Given the description of an element on the screen output the (x, y) to click on. 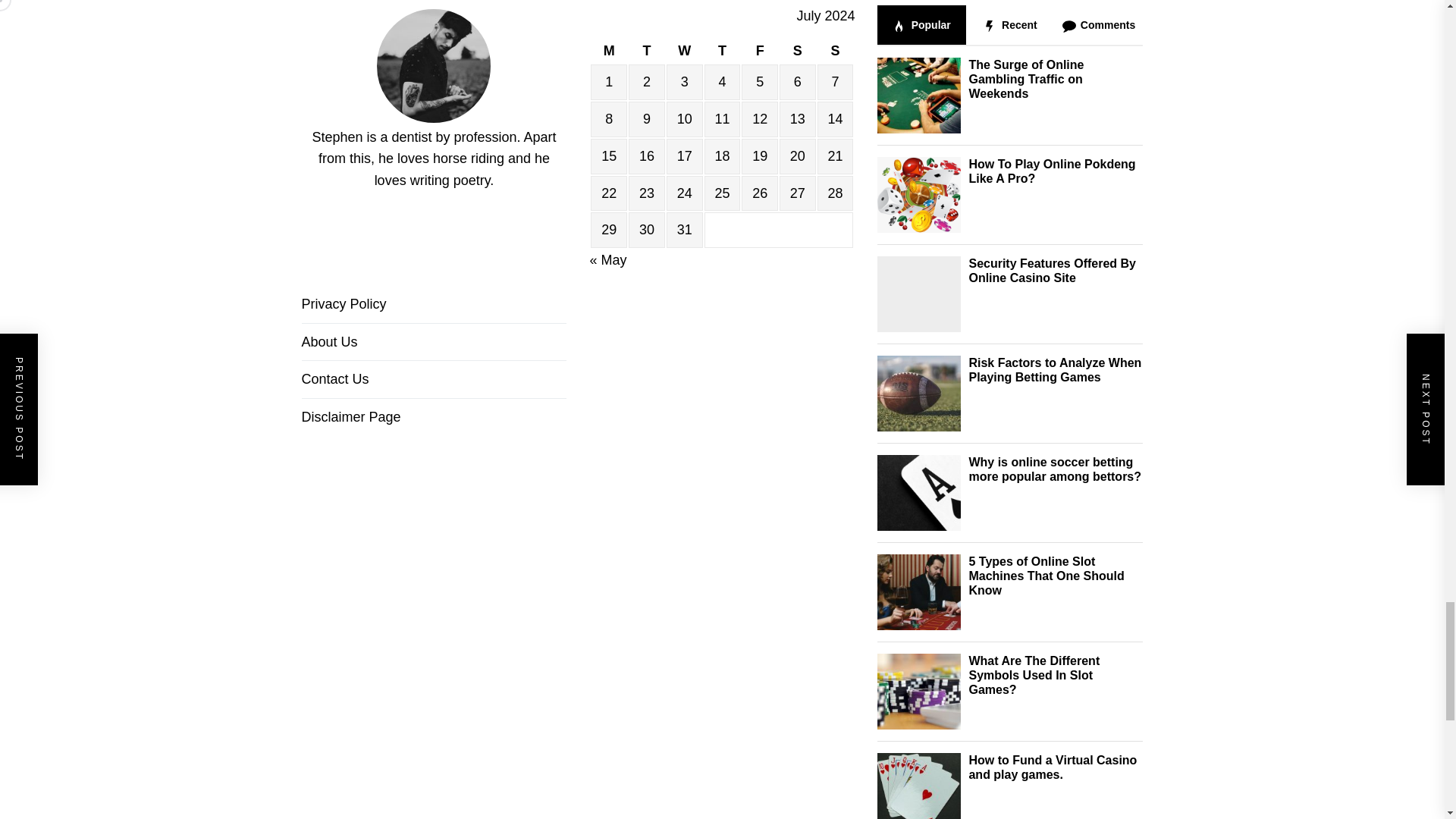
Why is online soccer betting more popular among bettors? (1054, 469)
Monday (609, 51)
Tuesday (646, 51)
Risk Factors to Analyze When Playing Betting Games (1054, 370)
How To Play Online Pokdeng Like A Pro? (1051, 171)
5 Types of Online Slot Machines That One Should Know (1046, 576)
Security Features Offered By Online Casino Site (1051, 270)
Thursday (722, 51)
Wednesday (684, 51)
The Surge of Online Gambling Traffic on Weekends (1025, 78)
Saturday (796, 51)
Friday (759, 51)
Sunday (834, 51)
